Given the description of an element on the screen output the (x, y) to click on. 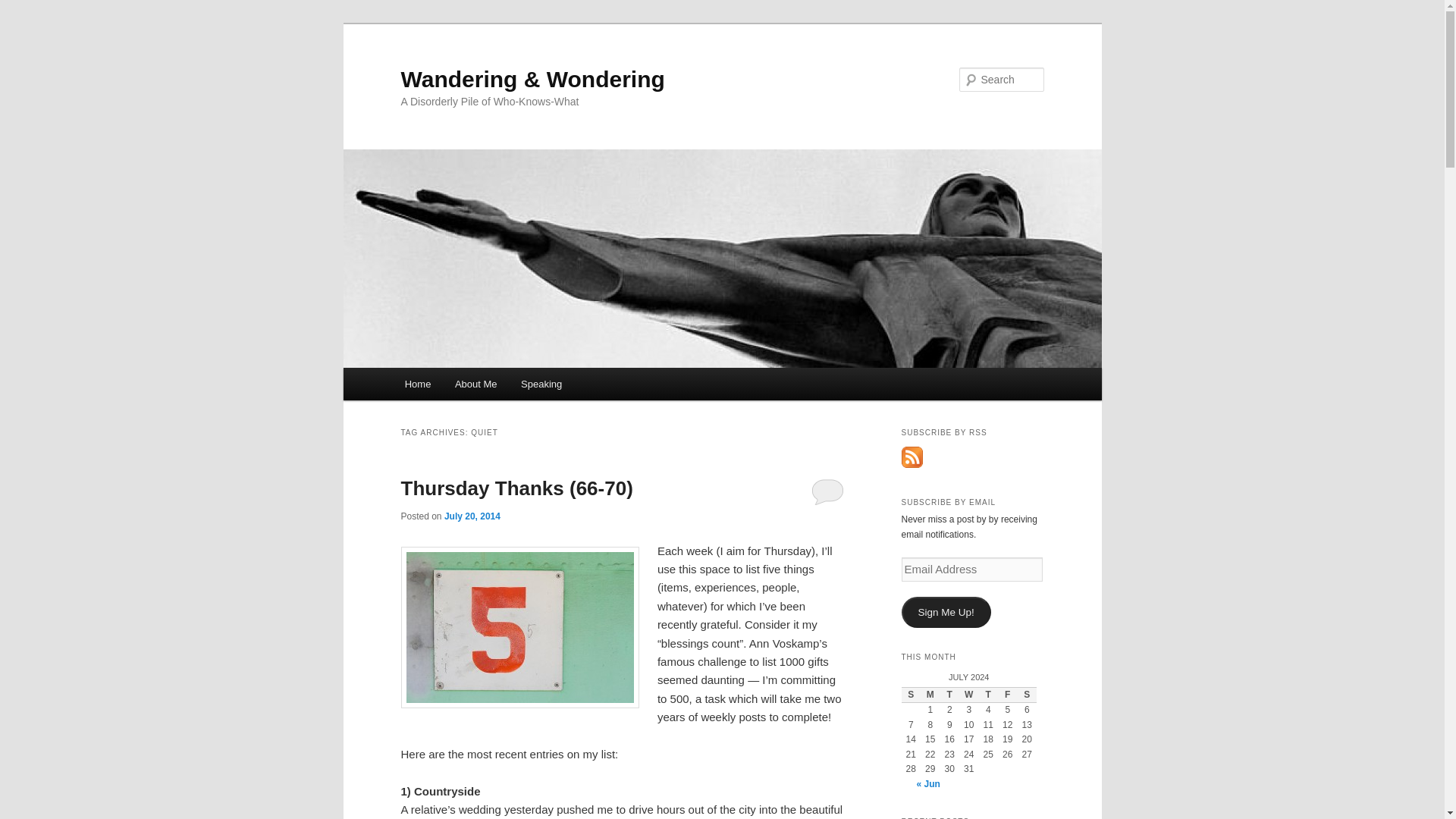
Facebook (36, 38)
Search (24, 8)
About Me (475, 383)
Speaking (540, 383)
3:00 pm (472, 516)
Pinterest (36, 92)
Twitter (36, 65)
Home (417, 383)
July 20, 2014 (472, 516)
